Given the description of an element on the screen output the (x, y) to click on. 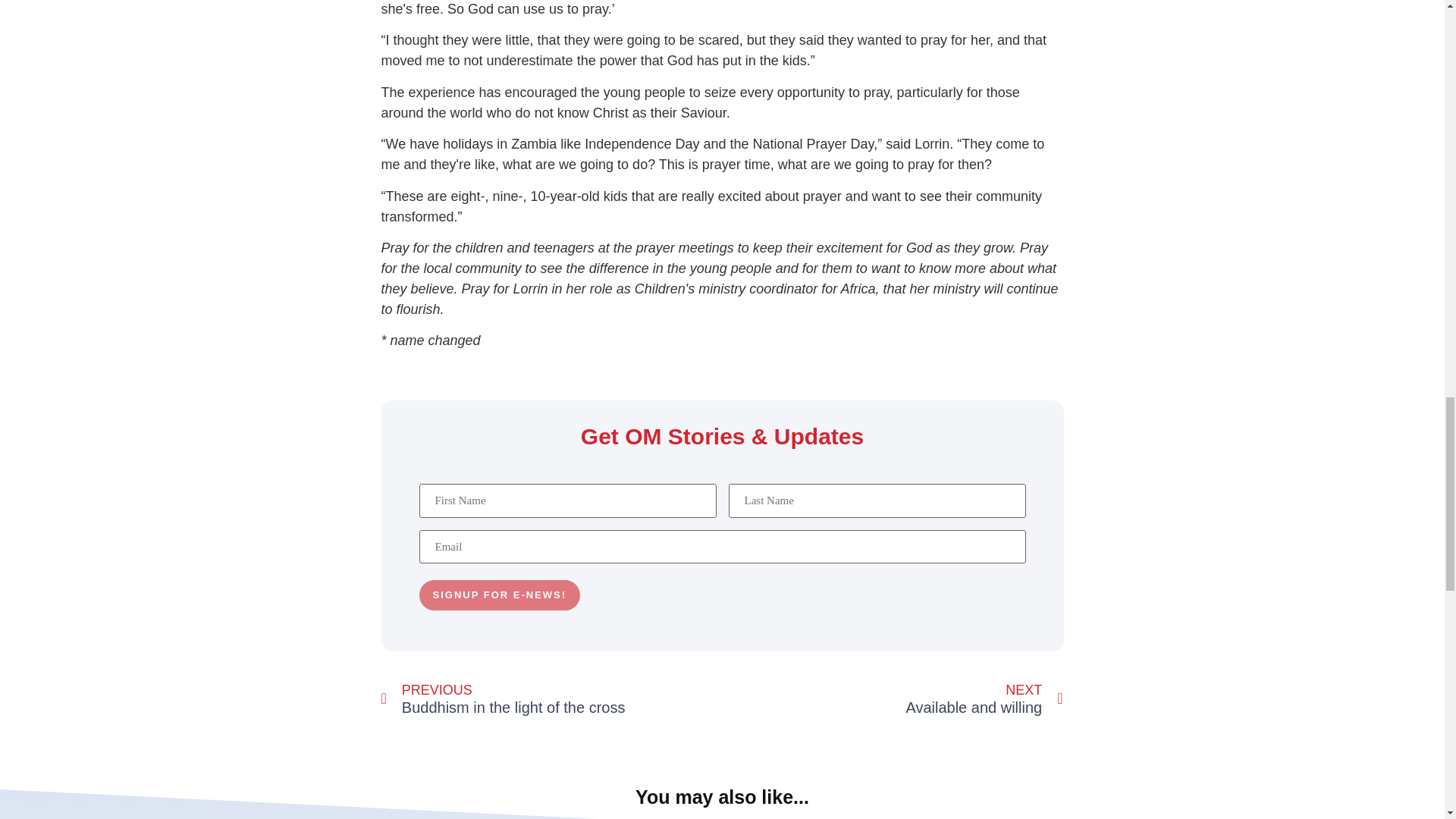
Signup for E-News! (499, 594)
